Given the description of an element on the screen output the (x, y) to click on. 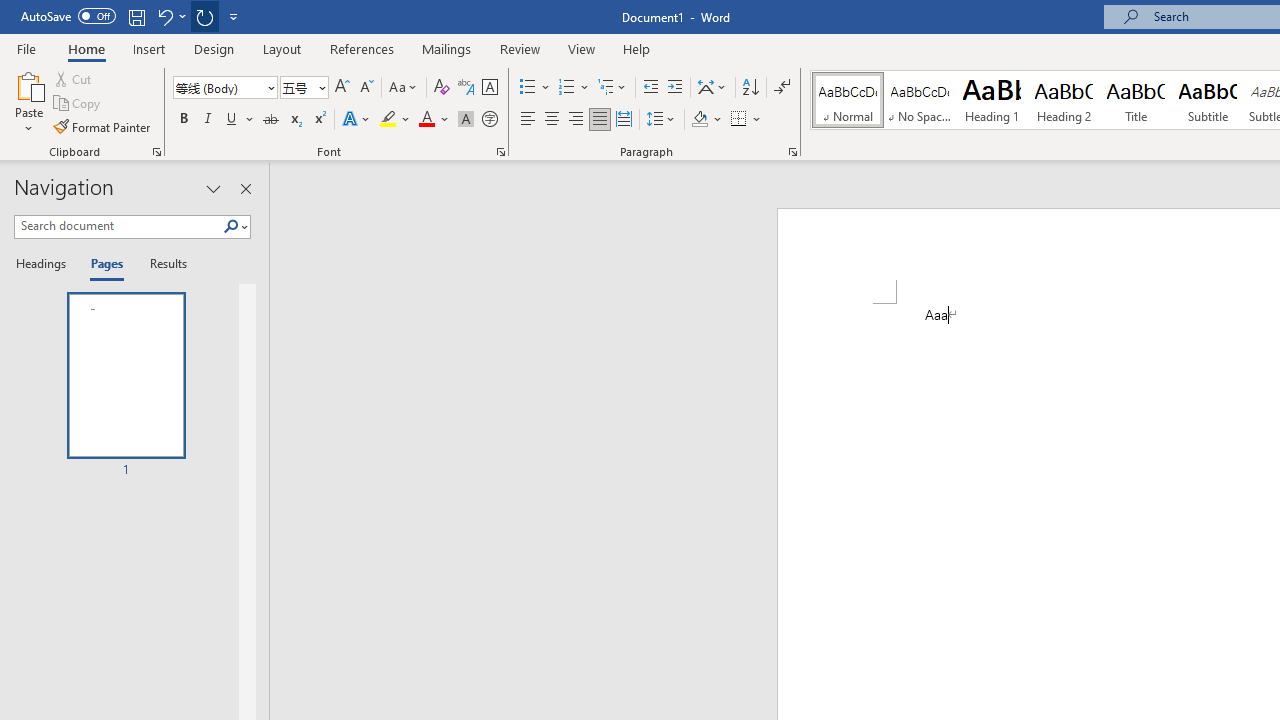
Heading 2 (1063, 100)
Font Color Red (426, 119)
